Given the description of an element on the screen output the (x, y) to click on. 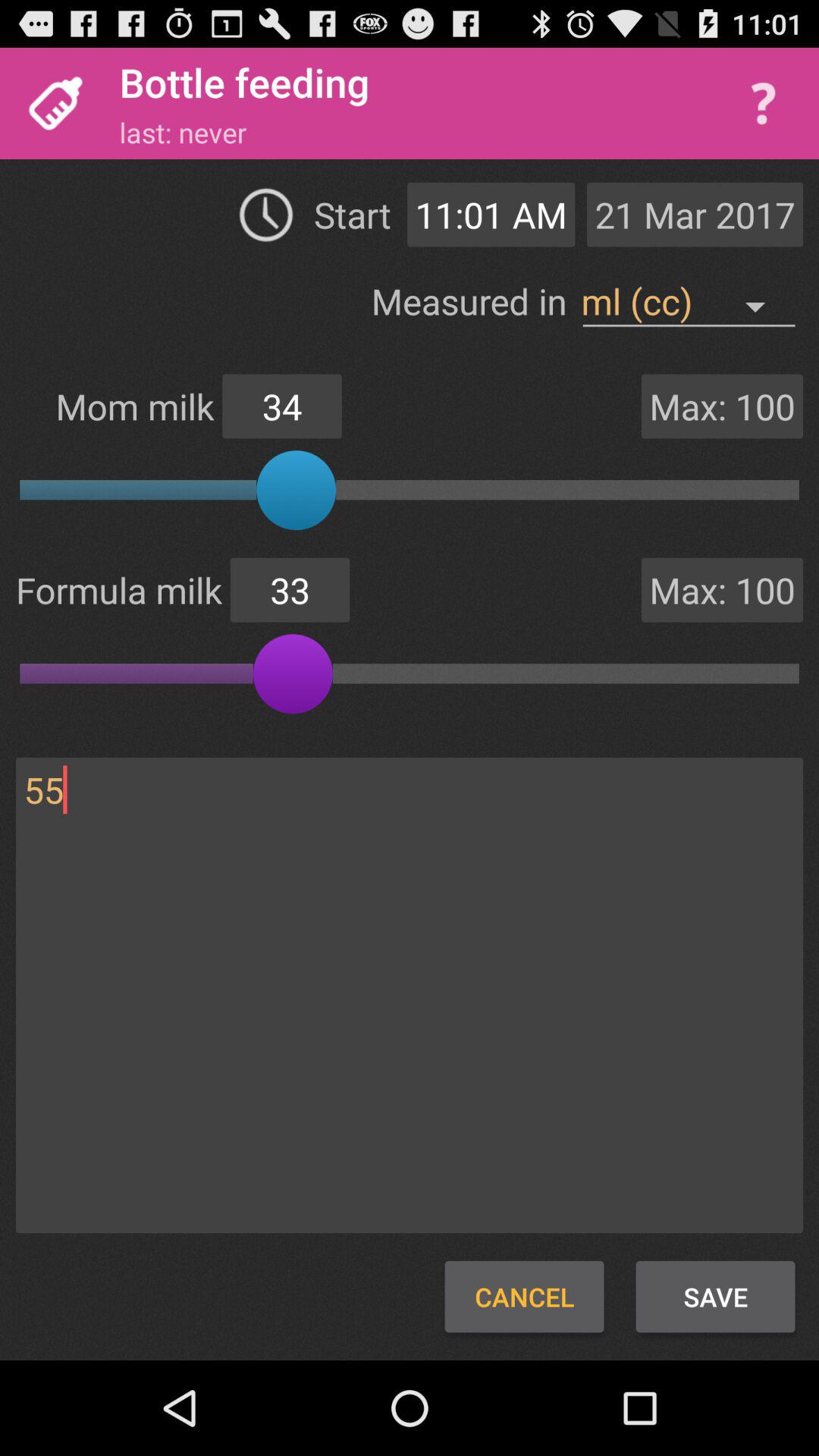
help menu (763, 103)
